Given the description of an element on the screen output the (x, y) to click on. 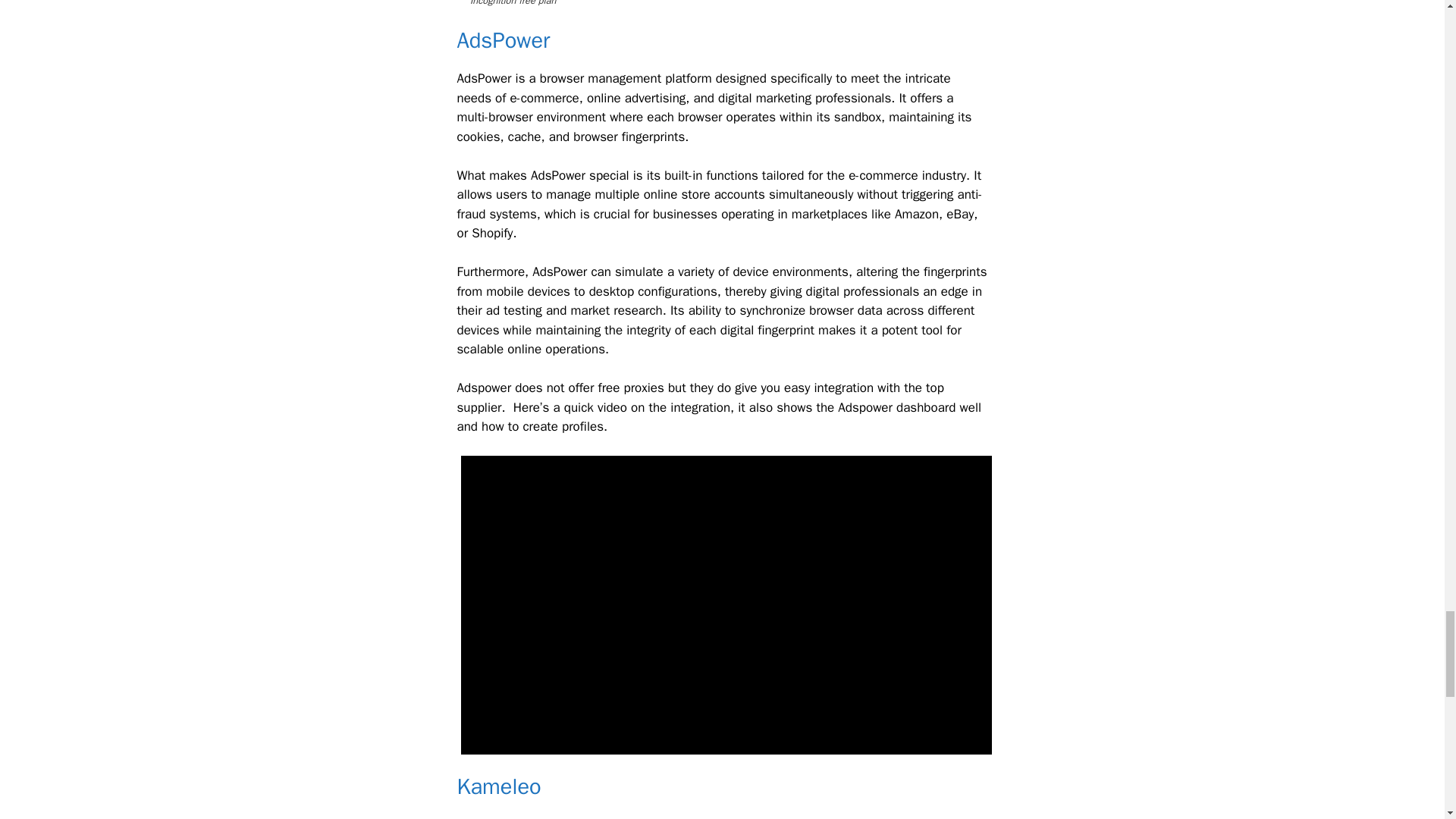
Kameleo (498, 786)
AdsPower (503, 40)
